Given the description of an element on the screen output the (x, y) to click on. 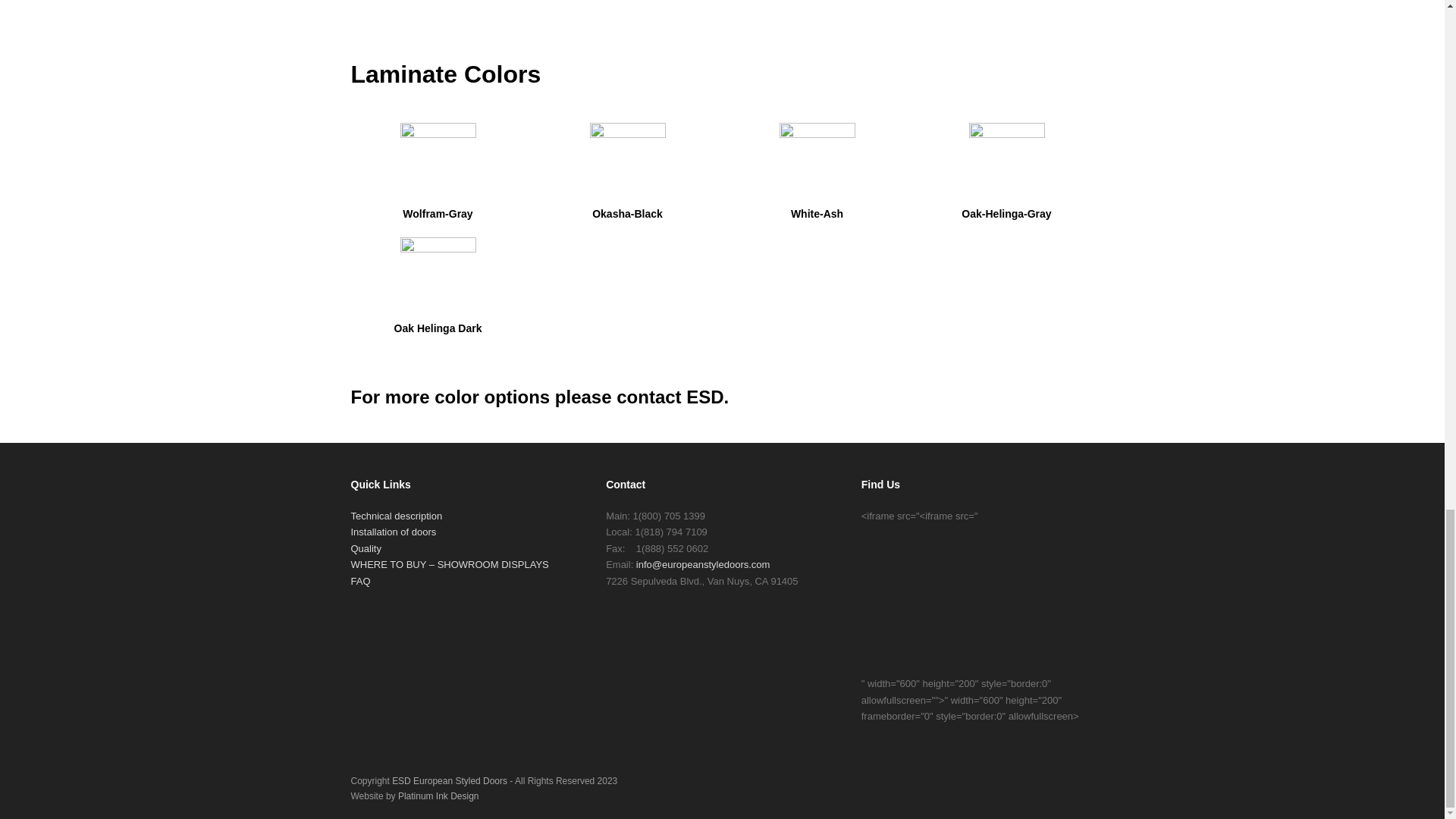
Platinum Ink Design (438, 795)
Installation of doors (392, 531)
Technical description (396, 515)
ESD European Styled Doors (448, 780)
Quality (365, 548)
FAQ (359, 581)
Platinum Ink Design (438, 795)
